Given the description of an element on the screen output the (x, y) to click on. 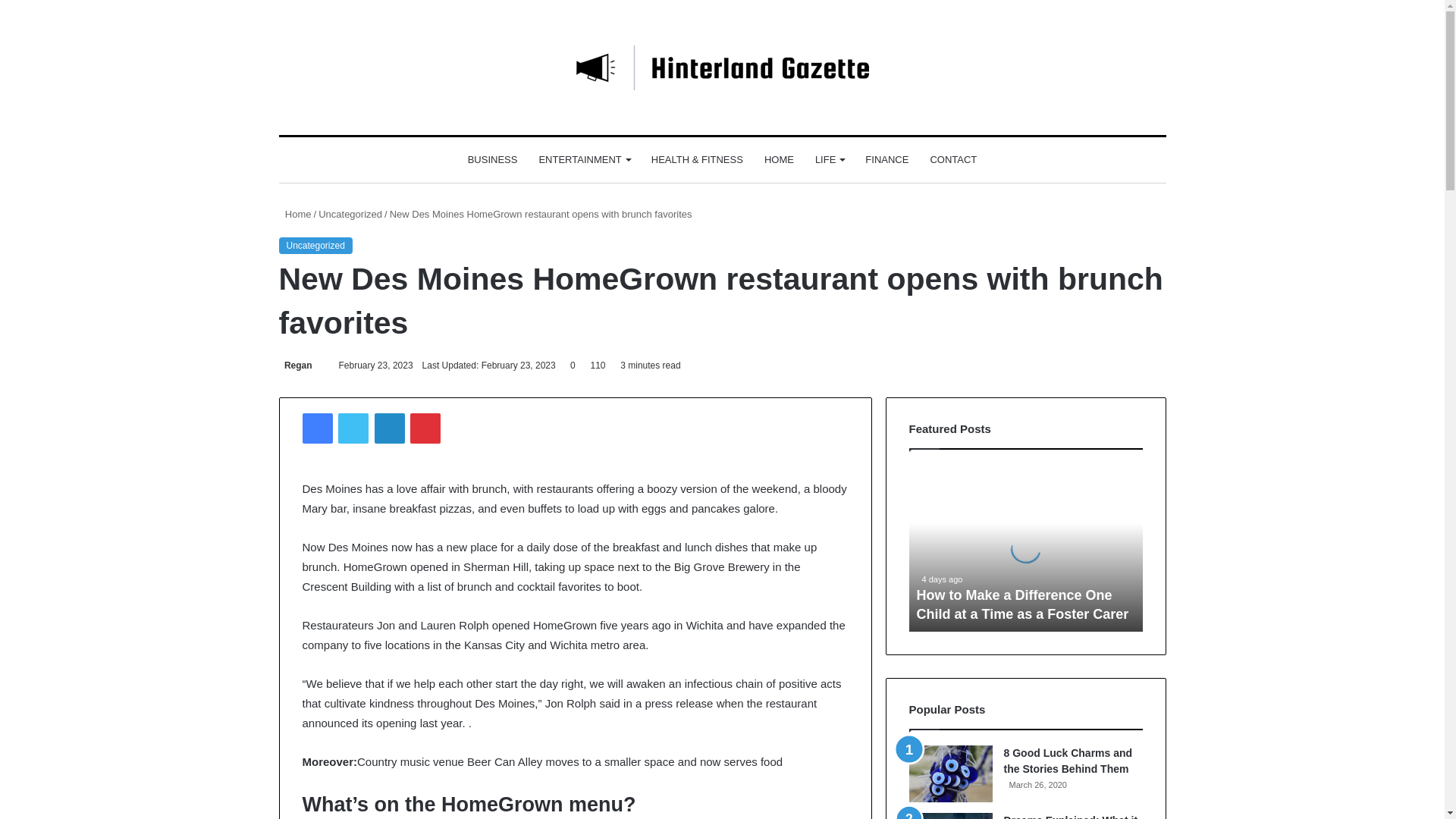
Home (295, 214)
LinkedIn (389, 428)
Regan (296, 365)
Uncategorized (315, 245)
Pinterest (425, 428)
LinkedIn (389, 428)
CONTACT (952, 159)
ENTERTAINMENT (583, 159)
Pinterest (425, 428)
LIFE (829, 159)
Twitter (352, 428)
Facebook (316, 428)
Facebook (316, 428)
BUSINESS (492, 159)
HOME (779, 159)
